Given the description of an element on the screen output the (x, y) to click on. 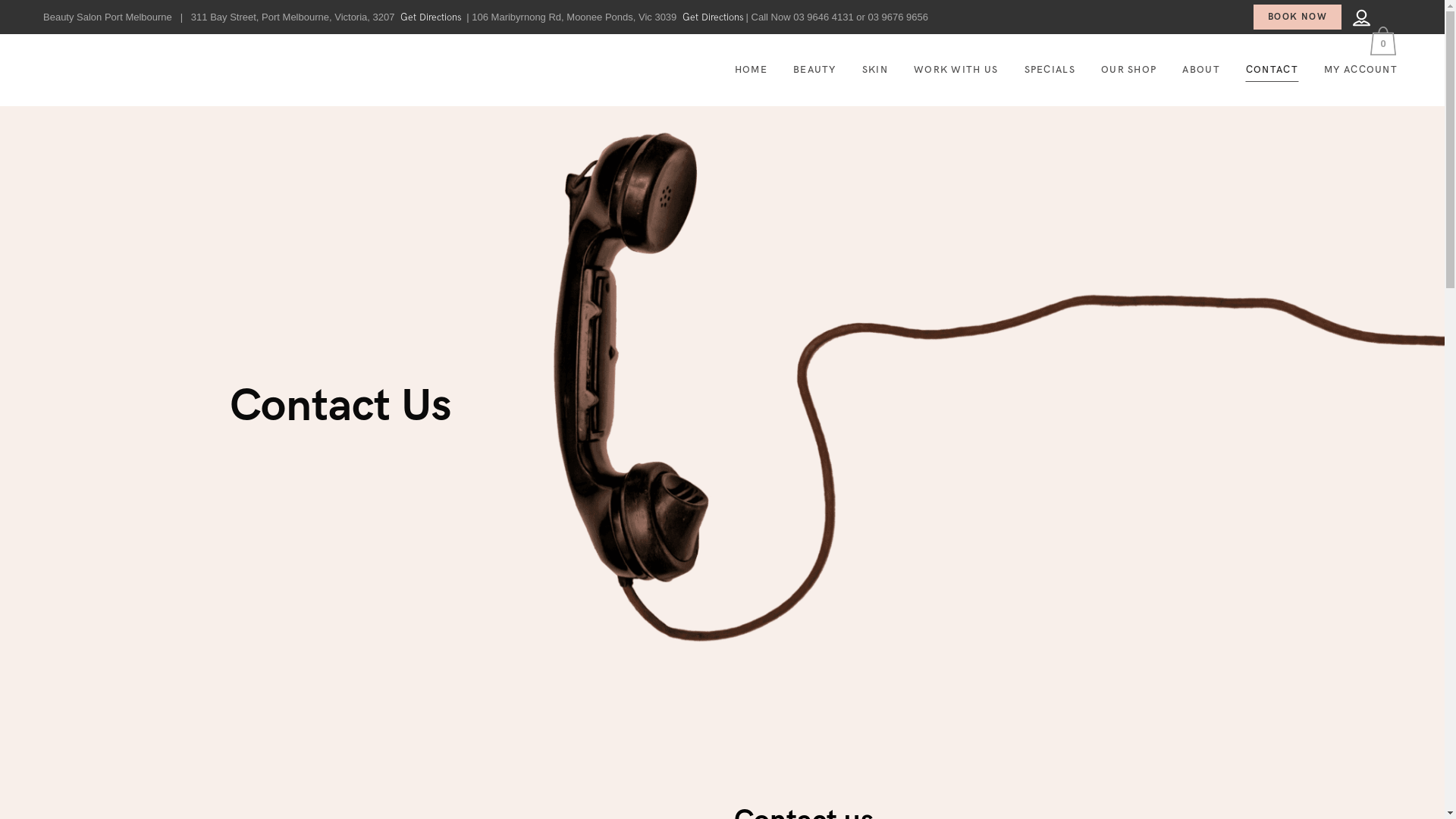
Get Directions Element type: text (714, 17)
0 Element type: text (1386, 39)
MY ACCOUNT Element type: text (1360, 70)
Get Directions Element type: text (432, 17)
BEAUTY Element type: text (814, 70)
OUR SHOP Element type: text (1128, 70)
BOOK NOW Element type: text (1297, 16)
SPECIALS Element type: text (1049, 70)
ABOUT Element type: text (1201, 70)
CONTACT Element type: text (1272, 70)
SKIN Element type: text (874, 70)
WORK WITH US Element type: text (955, 70)
HOME Element type: text (750, 70)
